Given the description of an element on the screen output the (x, y) to click on. 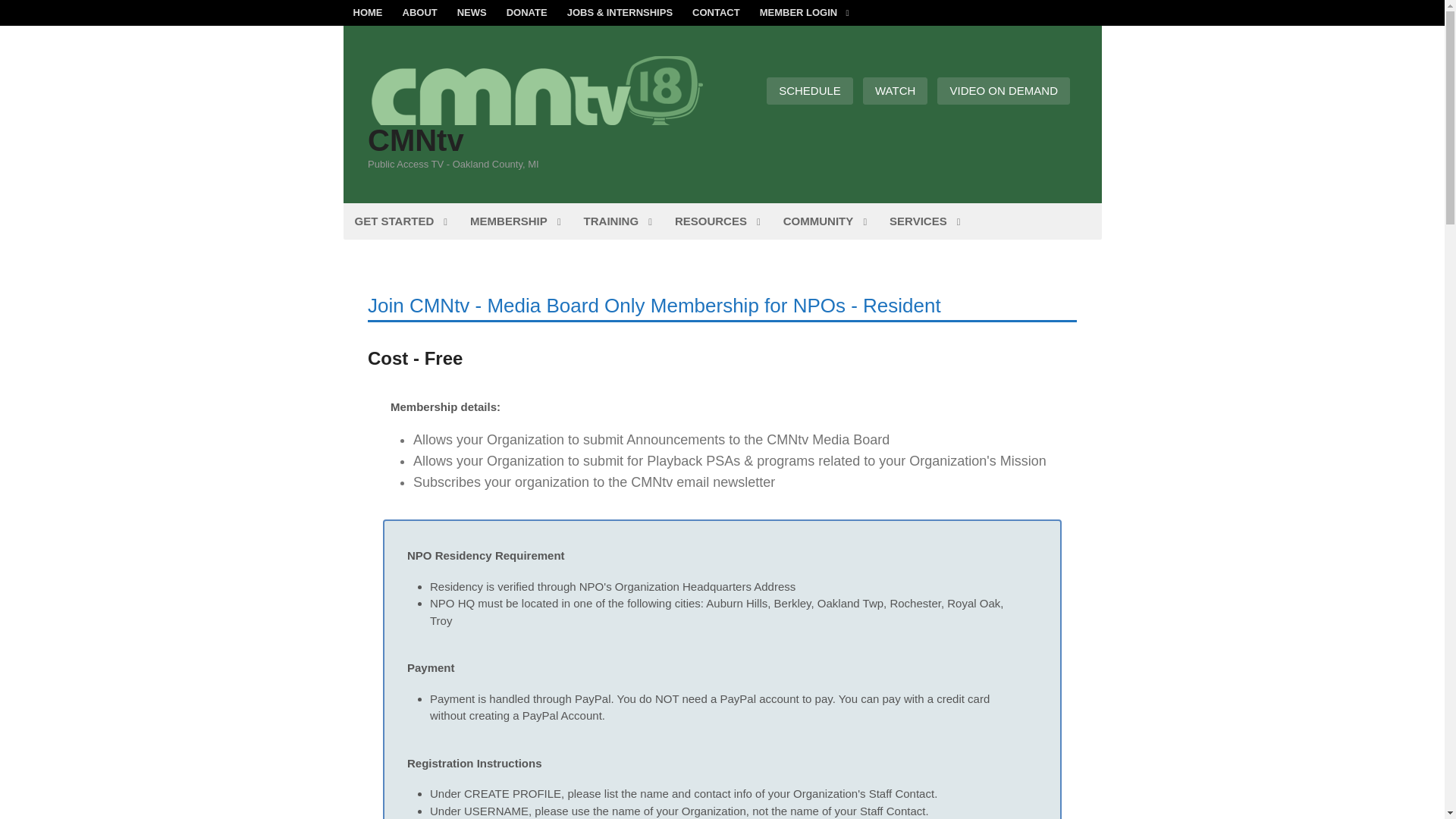
COMMUNITY (824, 221)
CMNtv (416, 140)
MEMBER LOGIN (804, 12)
Public Access TV - Oakland County, MI (538, 116)
WATCH (895, 90)
DONATE (526, 12)
NEWS (471, 12)
MEMBERSHIP (515, 221)
CONTACT (715, 12)
TRAINING (617, 221)
HOME (366, 12)
ABOUT (419, 12)
VIDEO ON DEMAND (1003, 90)
SCHEDULE (810, 90)
RESOURCES (717, 221)
